Given the description of an element on the screen output the (x, y) to click on. 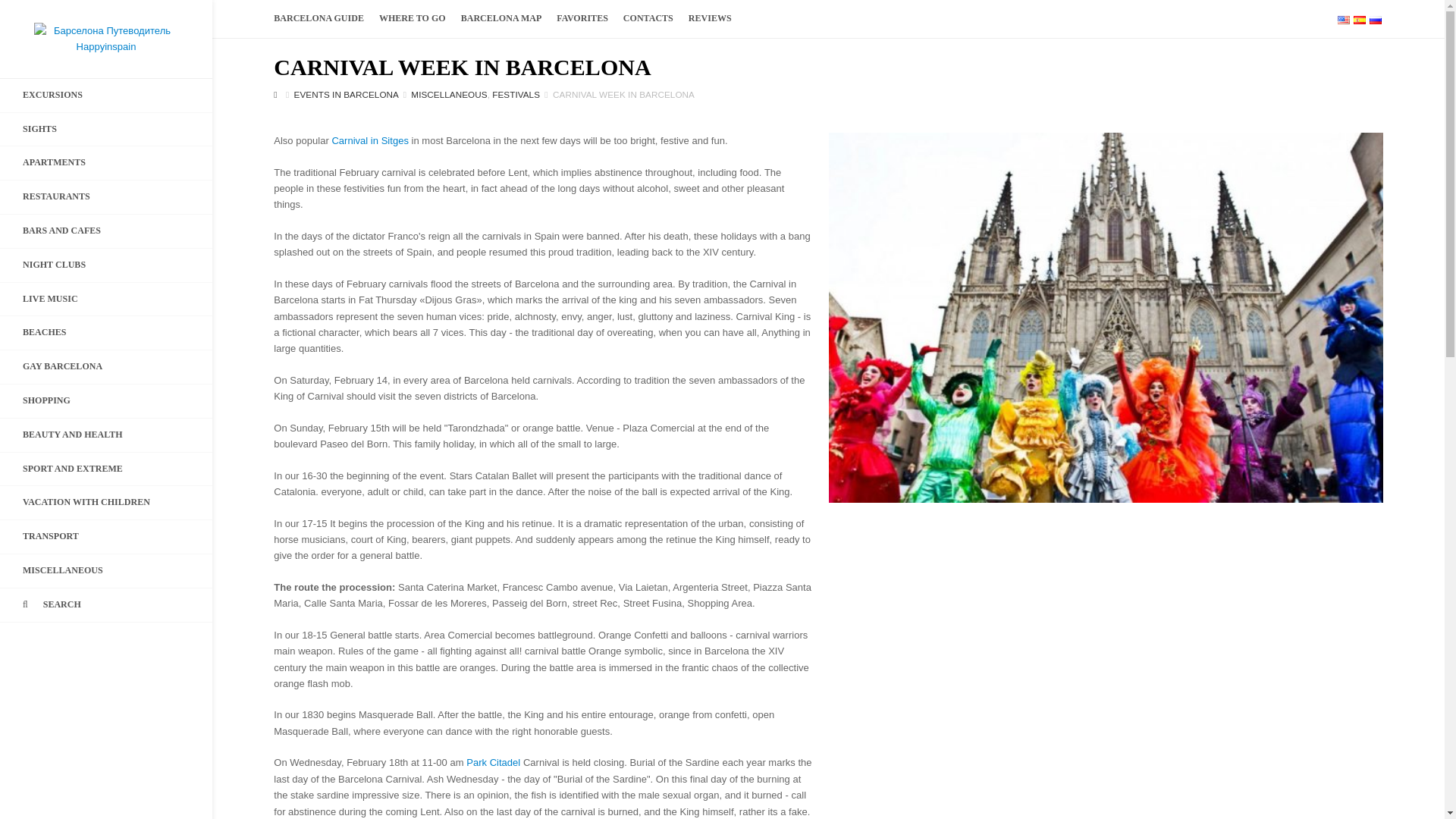
English (1343, 19)
EXCURSIONS (106, 95)
CONTACTS (647, 18)
Festivals (516, 94)
REVIEWS (710, 18)
RESTAURANTS (106, 196)
APARTMENTS (106, 162)
FAVORITES (582, 18)
SIGHTS (106, 129)
BARS AND CAFES (106, 231)
